Given the description of an element on the screen output the (x, y) to click on. 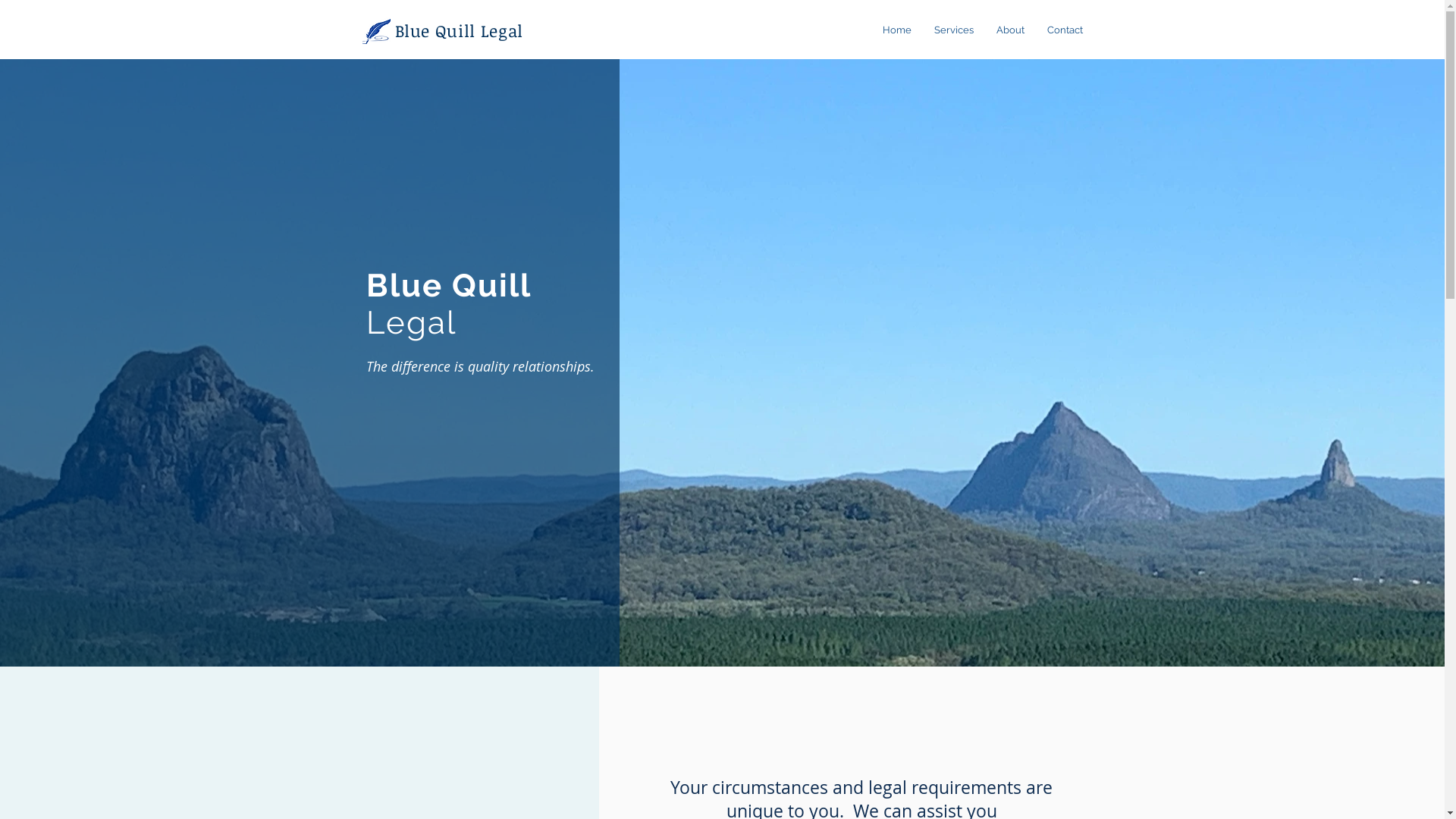
Blue Quill Legal's logo Element type: hover (376, 29)
Home Element type: text (896, 29)
About Element type: text (1009, 29)
Blue Quill Legal Element type: text (458, 29)
Contact Element type: text (1064, 29)
